Given the description of an element on the screen output the (x, y) to click on. 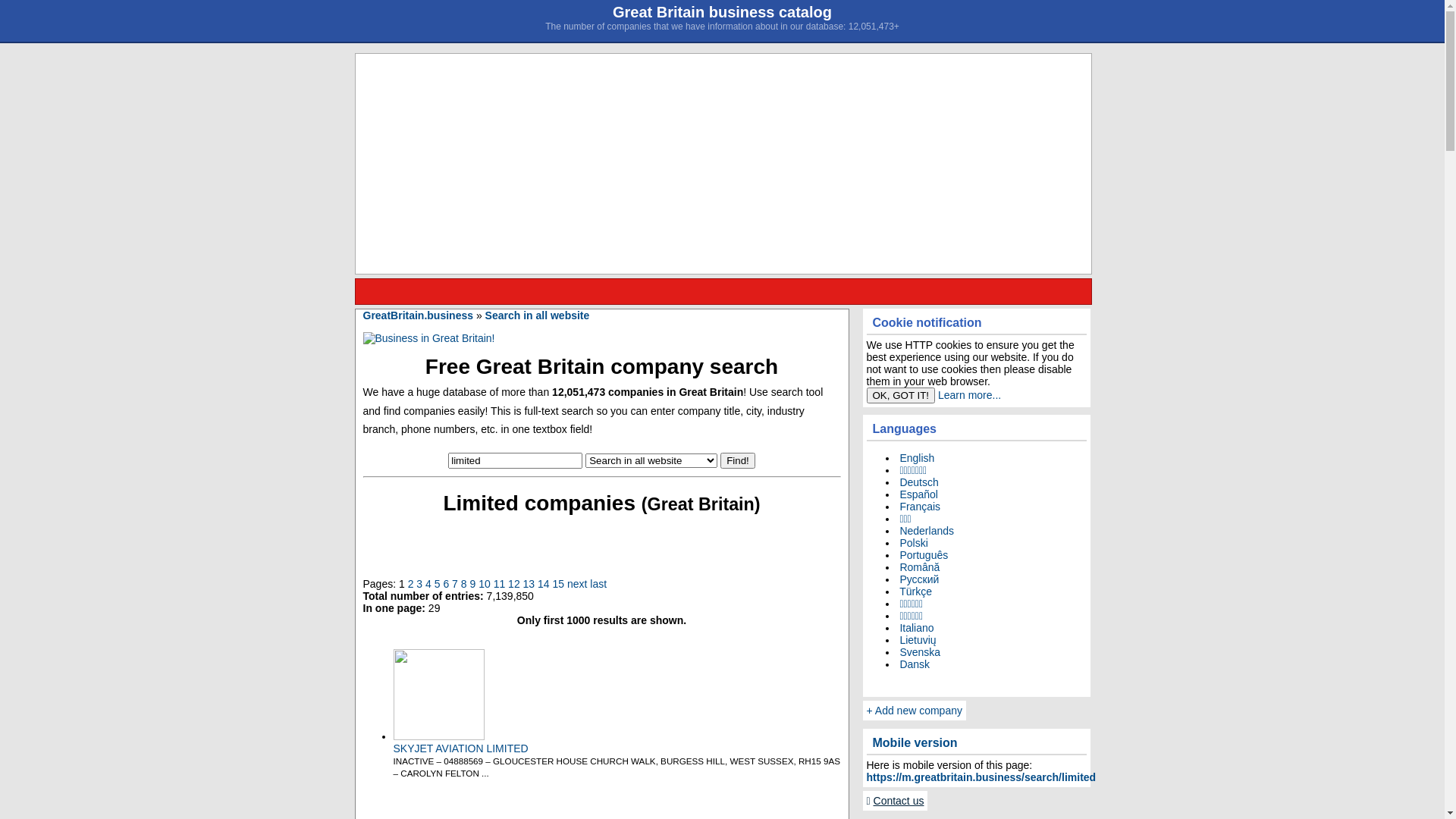
 Nederlands Element type: text (924, 530)
4 Element type: text (428, 583)
Search in all website Element type: text (537, 315)
OK, GOT IT! Element type: text (900, 395)
last Element type: text (597, 583)
13 Element type: text (529, 583)
 Polski Element type: text (911, 542)
https://m.greatbritain.business/search/limited Element type: text (980, 777)
Learn more... Element type: text (969, 395)
11 Element type: text (499, 583)
 Svenska Element type: text (918, 652)
9 Element type: text (472, 583)
Mobile version Element type: text (977, 742)
next Element type: text (576, 583)
14 Element type: text (543, 583)
6 Element type: text (445, 583)
7 Element type: text (454, 583)
8 Element type: text (464, 583)
 Dansk Element type: text (912, 664)
 Italiano Element type: text (914, 627)
5 Element type: text (437, 583)
Business in Great Britain! Element type: hover (428, 338)
GreatBritain.business Element type: text (417, 315)
15 Element type: text (558, 583)
+ Add new company Element type: text (914, 710)
Find! Element type: text (737, 459)
 English Element type: text (915, 457)
12 Element type: text (514, 583)
2 Element type: text (410, 583)
10 Element type: text (484, 583)
Great Britain business catalog Element type: text (721, 11)
 Deutsch Element type: text (917, 482)
SKYJET AVIATION LIMITED Element type: text (459, 748)
3 Element type: text (419, 583)
